Given the description of an element on the screen output the (x, y) to click on. 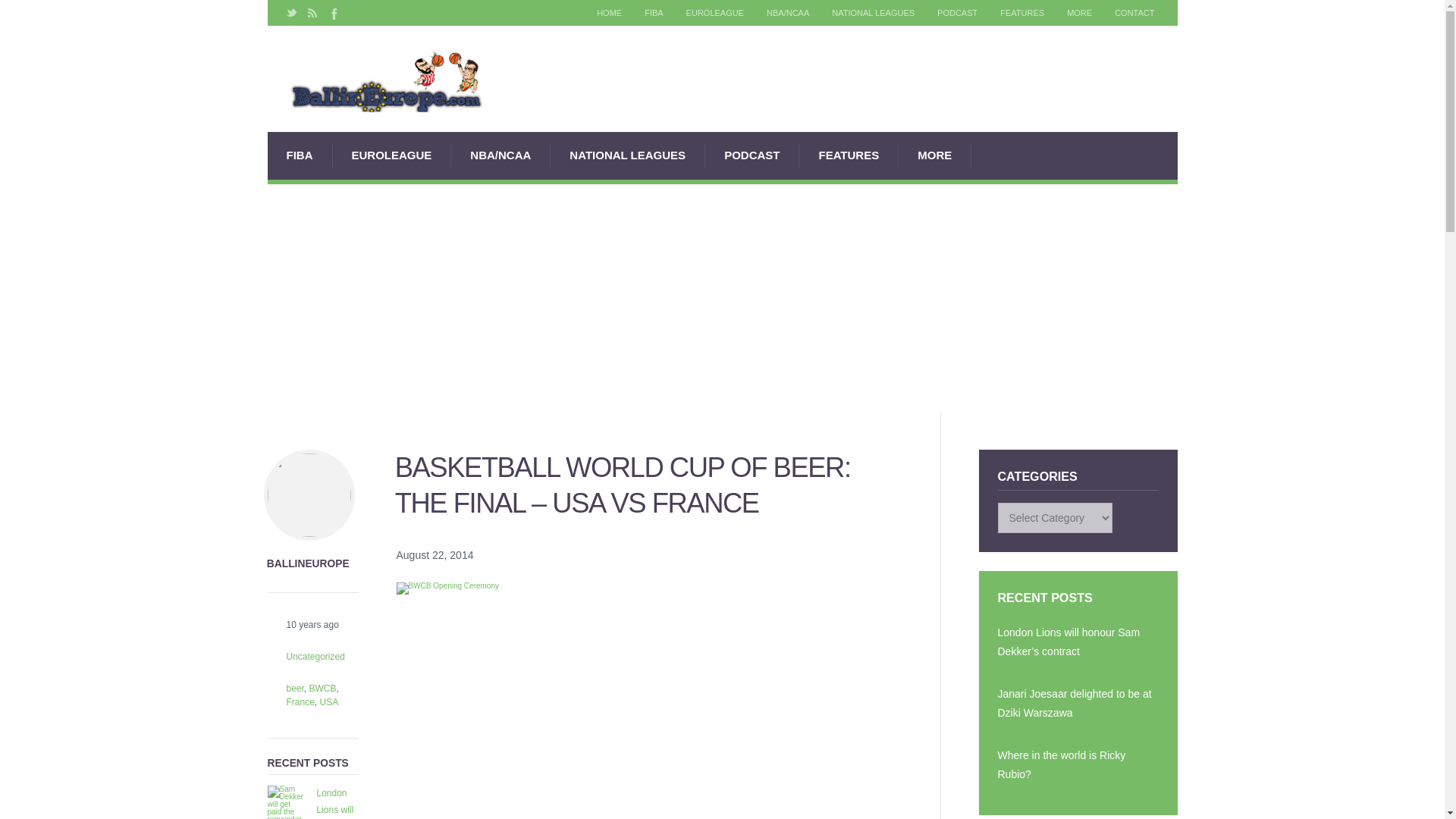
MORE (1079, 13)
FIBA (653, 13)
FEATURES (1021, 13)
PODCAST (751, 155)
BWCB (322, 687)
PODCAST (957, 13)
RSS (311, 12)
NATIONAL LEAGUES (627, 155)
Uncategorized (304, 655)
EUROLEAGUE (715, 13)
